Given the description of an element on the screen output the (x, y) to click on. 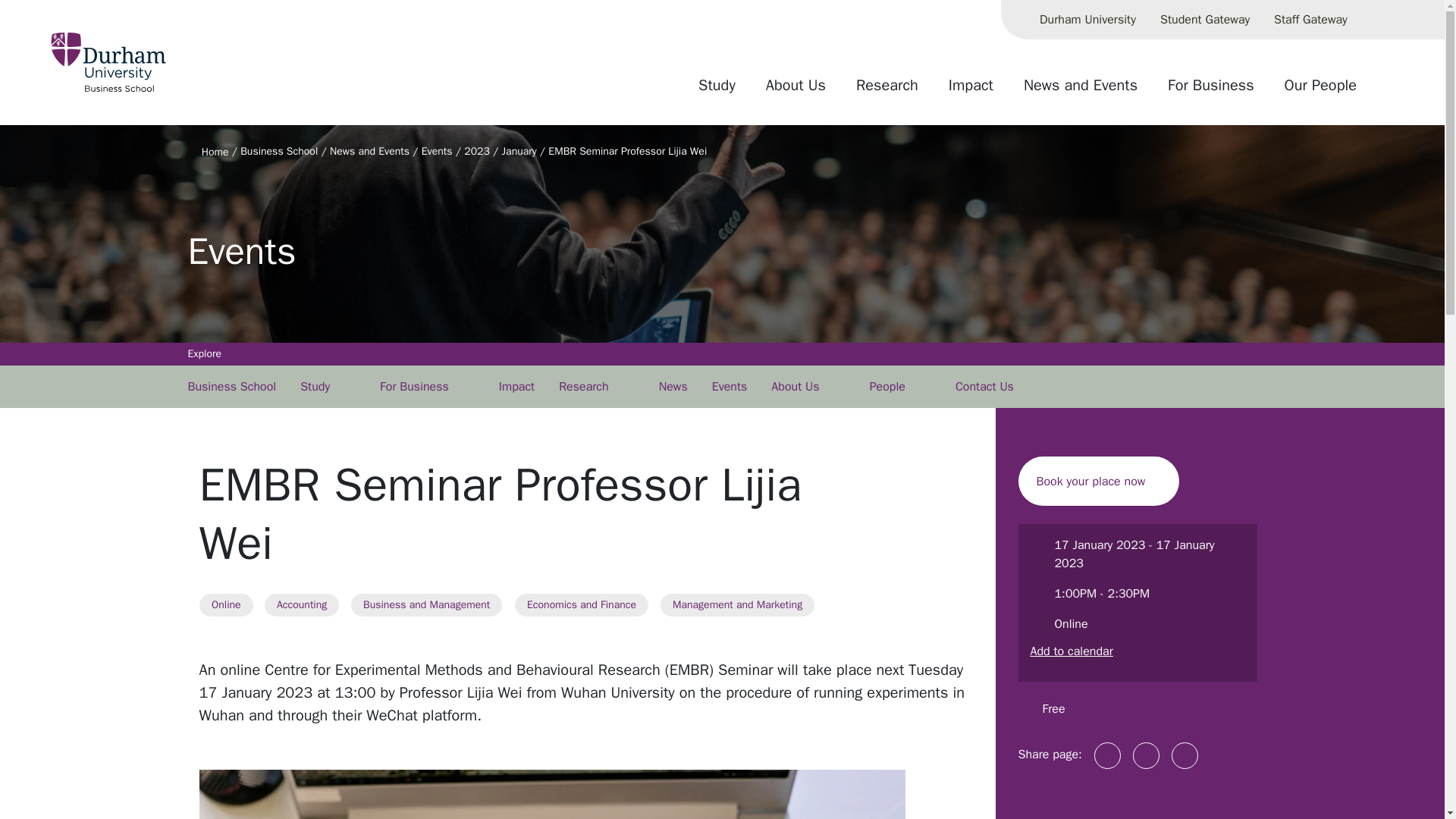
Research (887, 91)
Student Gateway (1205, 19)
Staff Gateway (1310, 19)
Study (716, 91)
Impact (971, 91)
News and Events (1080, 91)
About Us (796, 91)
Durham University (1087, 19)
